Given the description of an element on the screen output the (x, y) to click on. 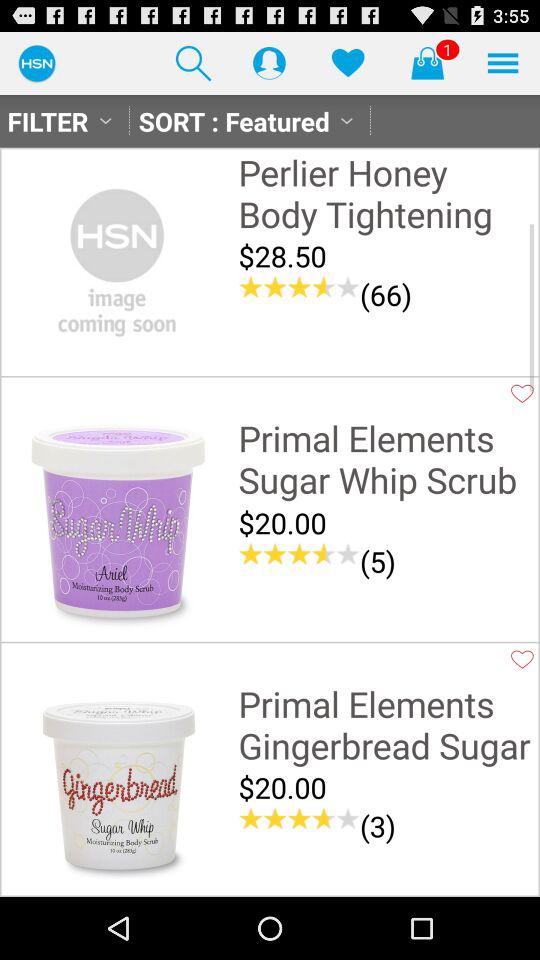
press the icon below the $28.50 item (386, 293)
